Given the description of an element on the screen output the (x, y) to click on. 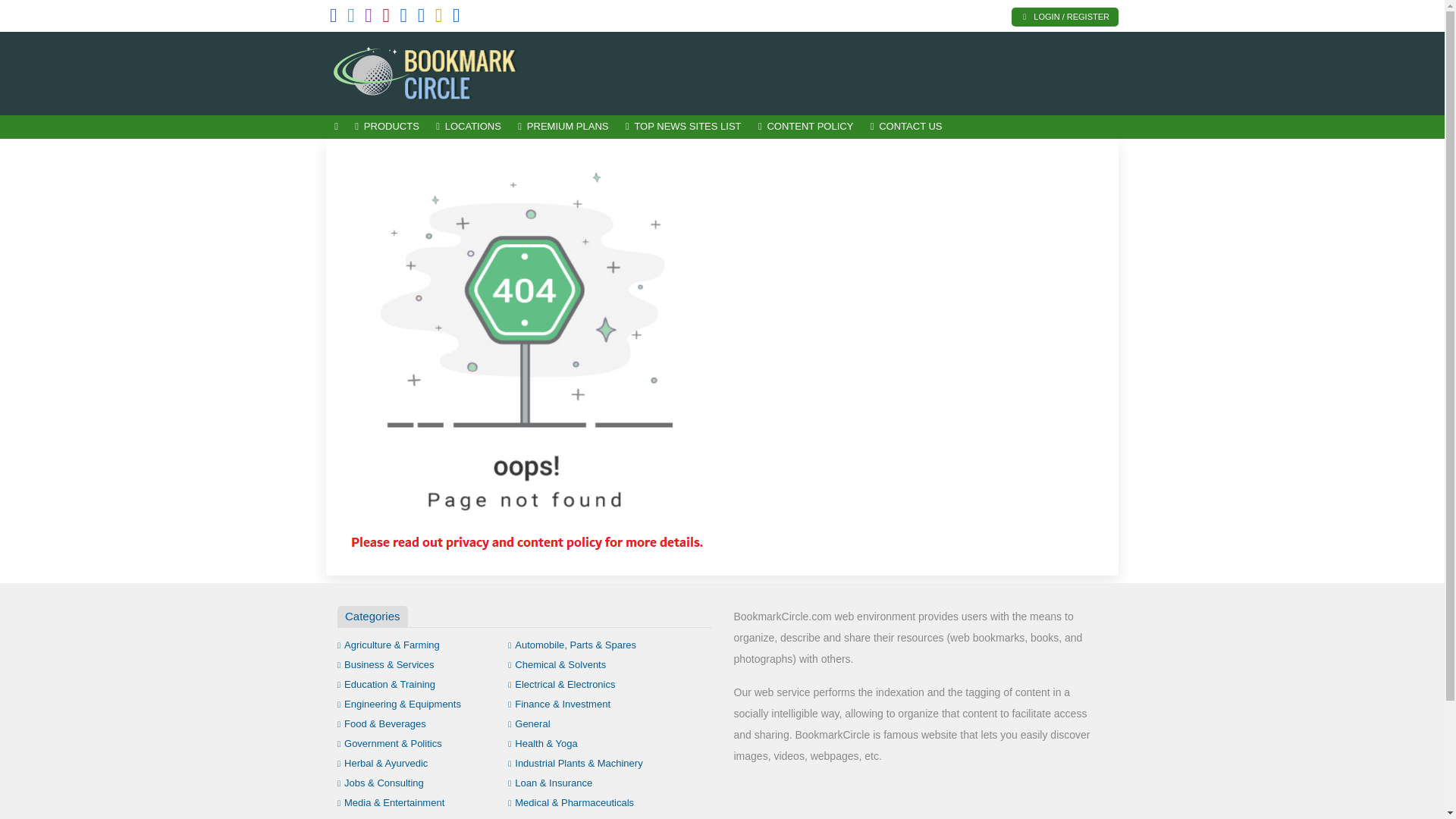
PRODUCTS (387, 126)
CONTACT US (905, 126)
LOCATIONS (468, 126)
General (529, 723)
CONTENT POLICY (805, 126)
TOP NEWS SITES LIST (683, 126)
PREMIUM PLANS (563, 126)
